Given the description of an element on the screen output the (x, y) to click on. 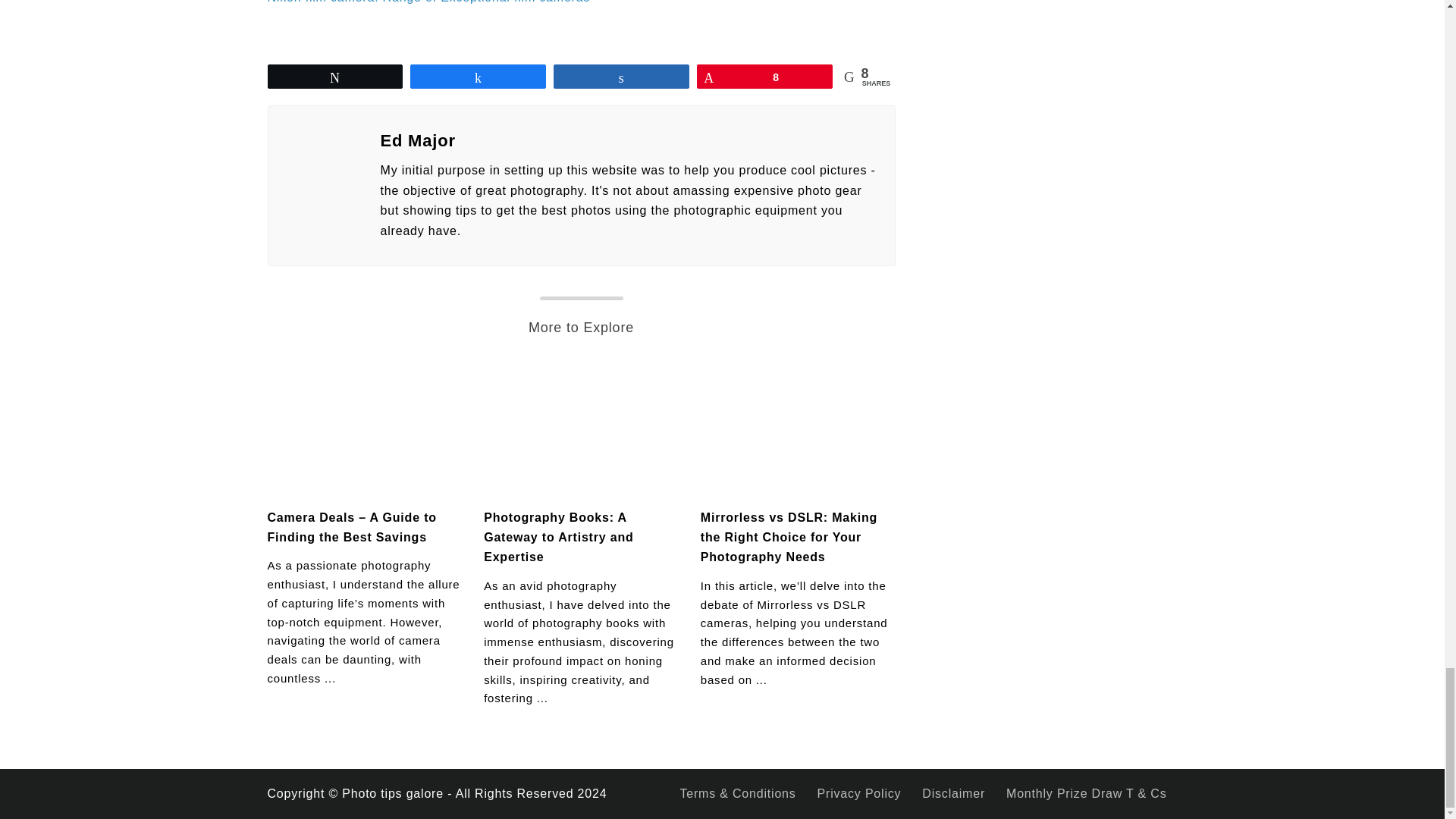
Nikon film camera: Range of Exceptional film cameras (427, 2)
Ed Major (628, 140)
8 (764, 76)
